Given the description of an element on the screen output the (x, y) to click on. 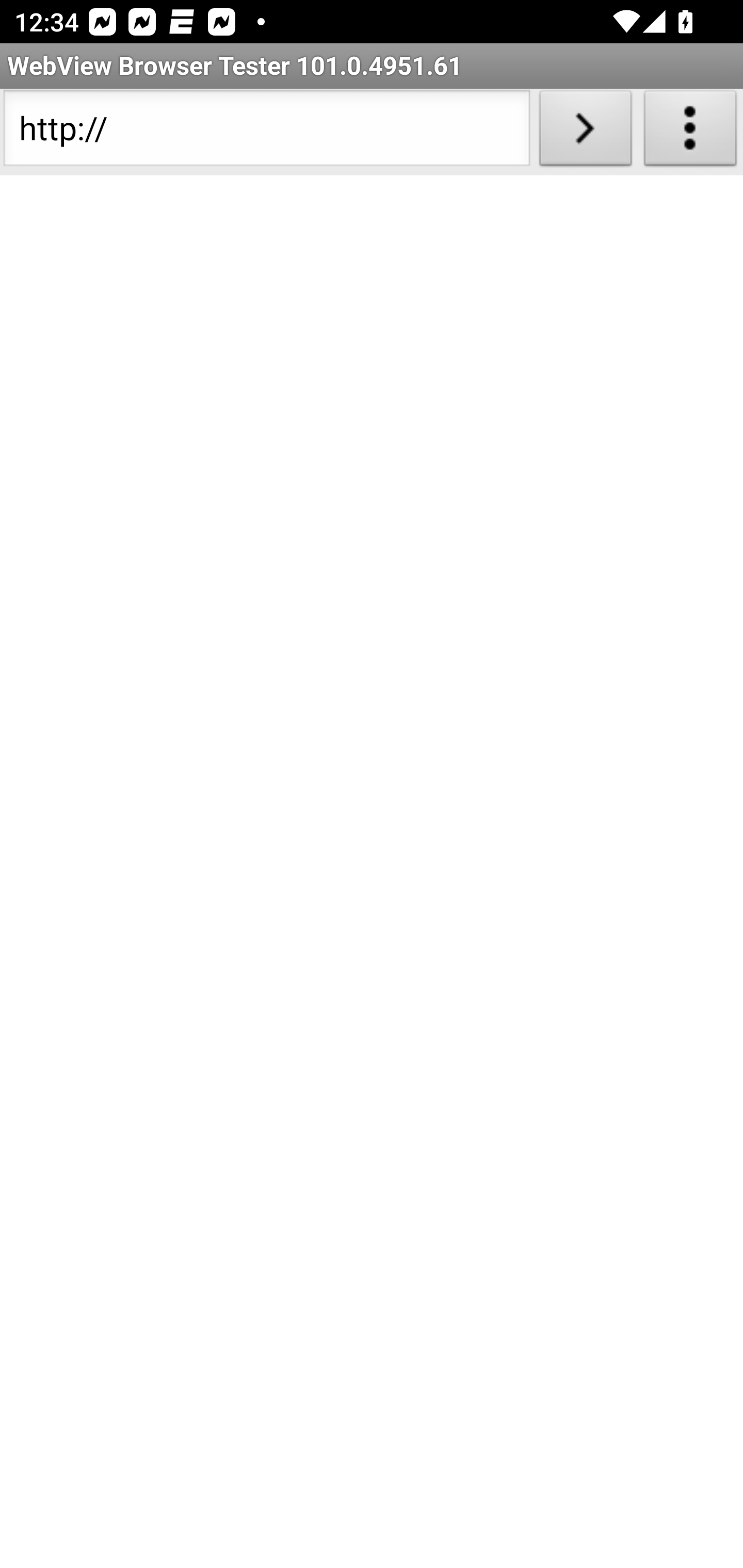
http:// (266, 132)
Load URL (585, 132)
About WebView (690, 132)
